Given the description of an element on the screen output the (x, y) to click on. 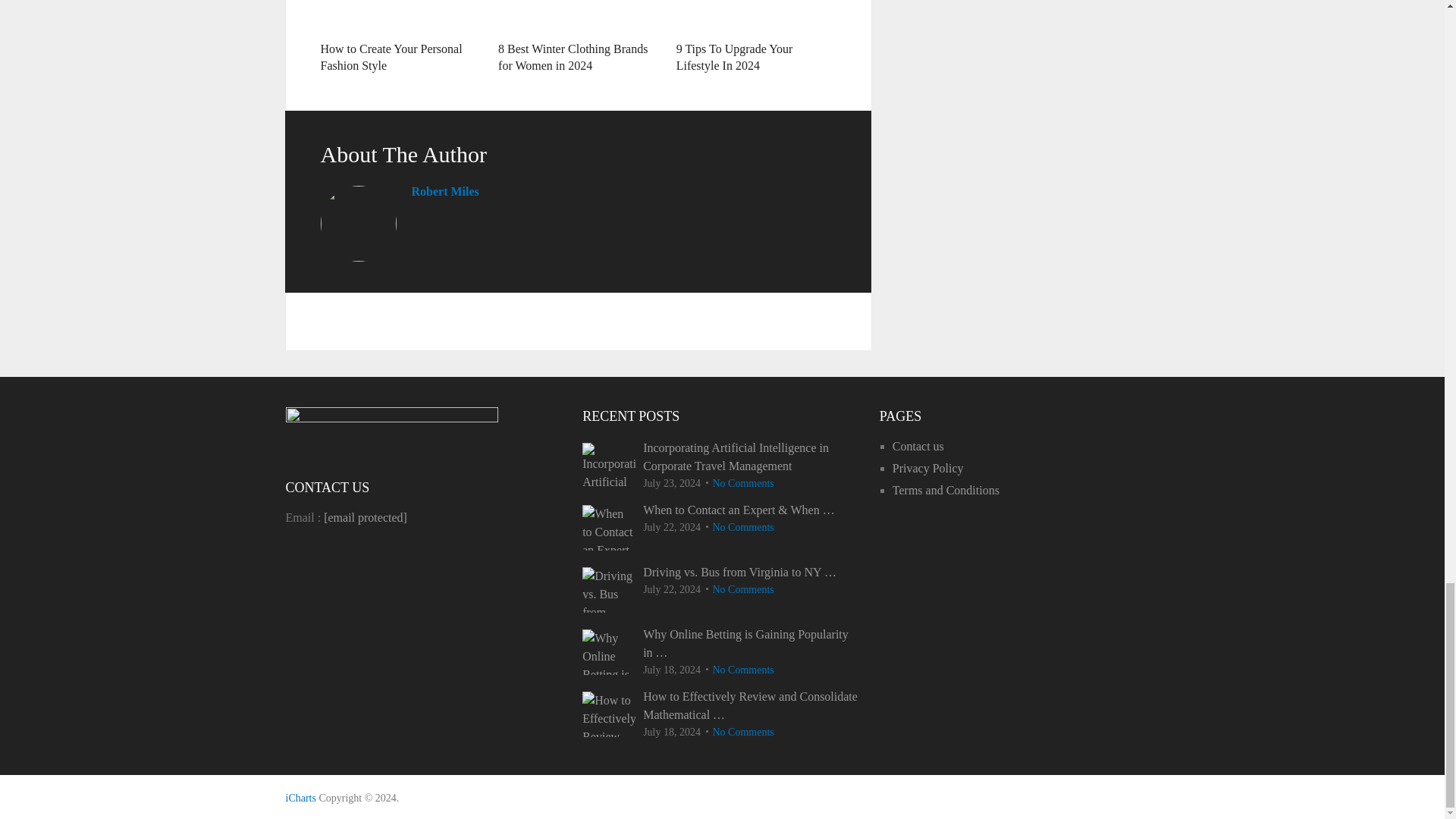
How to Create Your Personal Fashion Style (390, 57)
How to Create Your Personal Fashion Style (400, 16)
How to Create Your Personal Fashion Style (390, 57)
8 Best Winter Clothing Brands for Women in 2024 (572, 57)
9 Tips To Upgrade Your Lifestyle In 2024 (735, 57)
9 Tips To Upgrade Your Lifestyle In 2024 (756, 16)
8 Best Winter Clothing Brands for Women in 2024 (572, 57)
8 Best Winter Clothing Brands for Women in 2024 (577, 16)
Robert Miles (444, 190)
9 Tips To Upgrade Your Lifestyle In 2024 (735, 57)
